Given the description of an element on the screen output the (x, y) to click on. 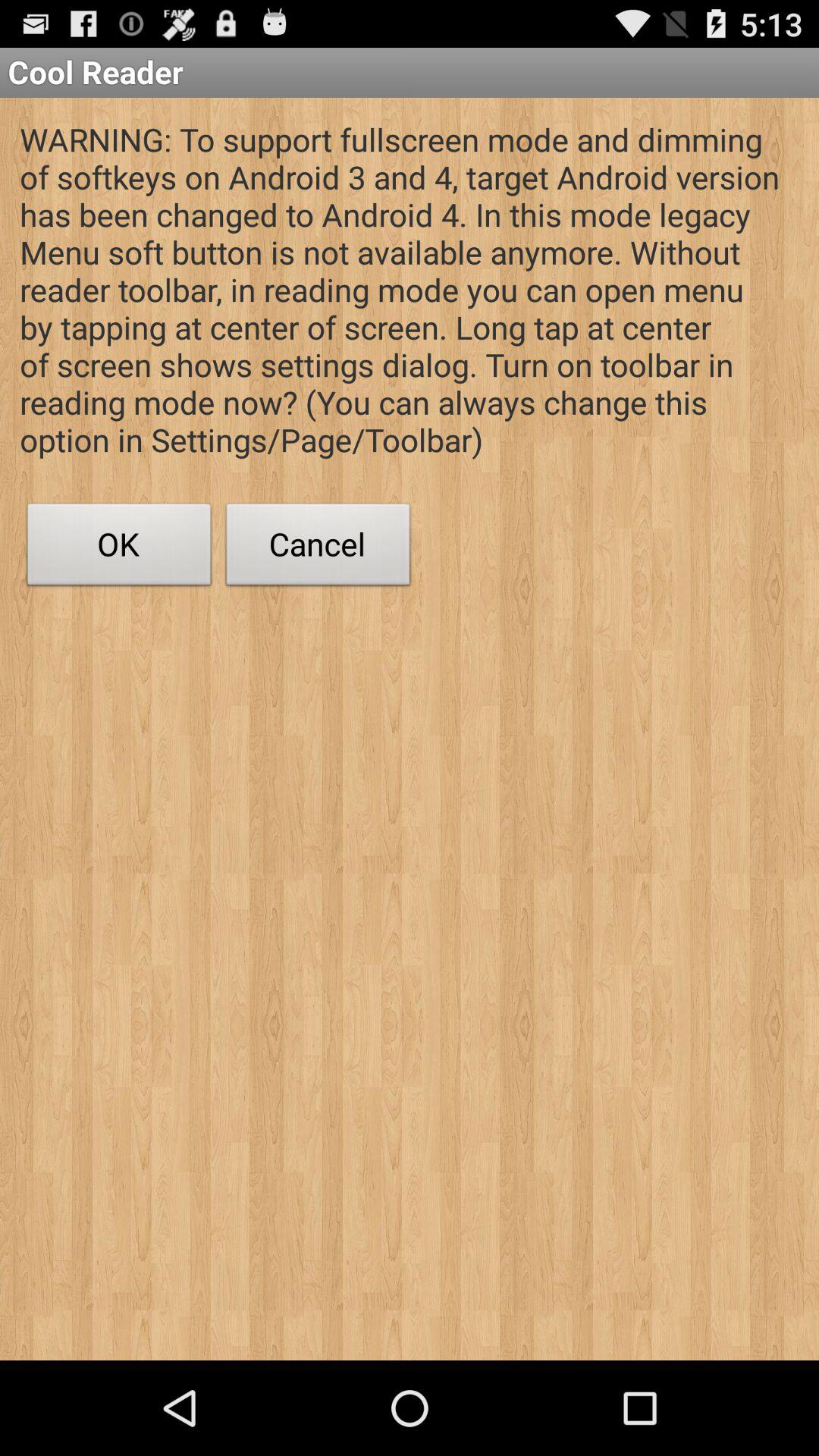
tap the button next to cancel item (118, 548)
